Given the description of an element on the screen output the (x, y) to click on. 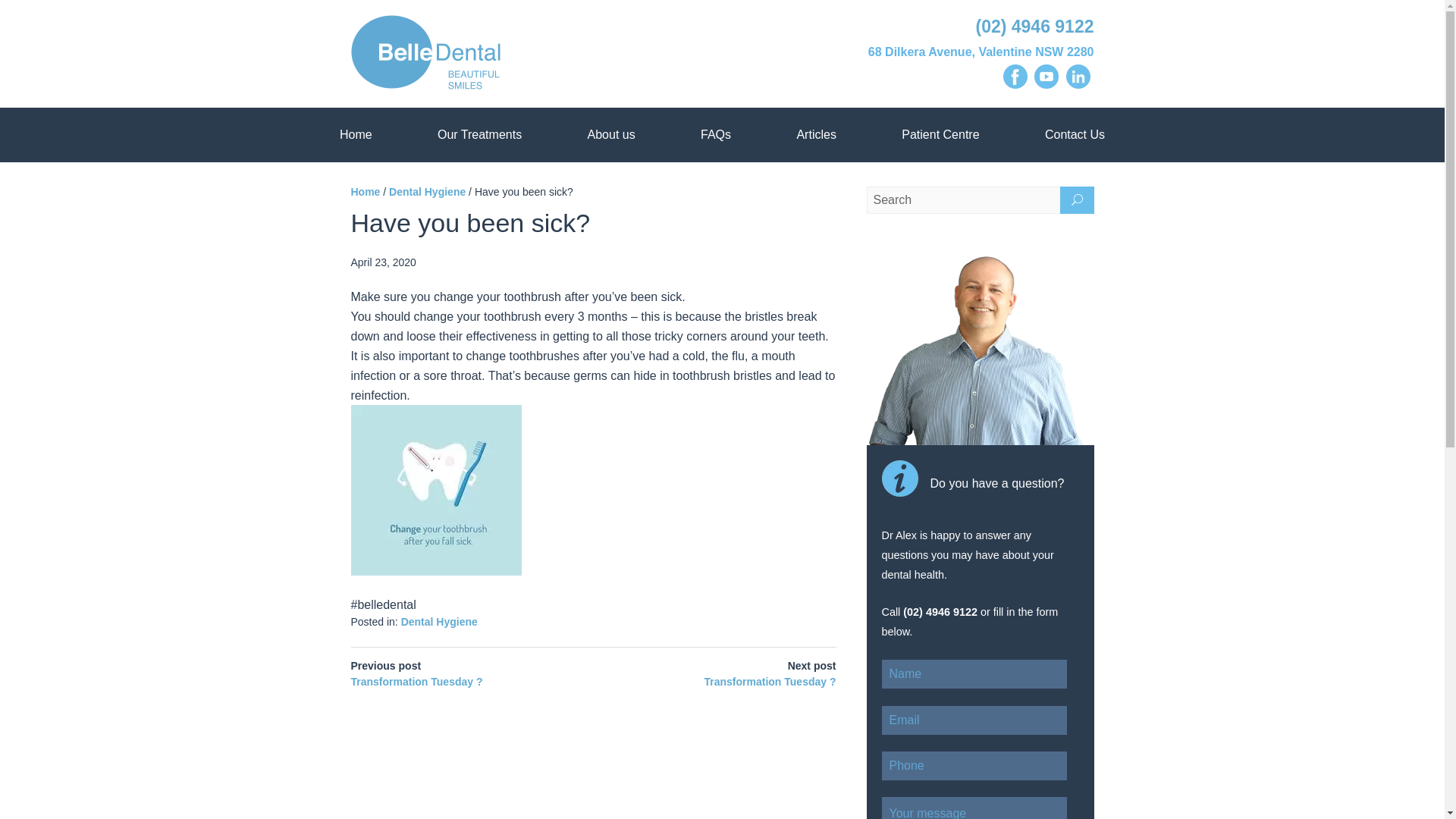
Search (979, 199)
Search (979, 199)
Home (355, 134)
FAQs (715, 134)
Our Treatments (479, 134)
Search (979, 199)
BelleDental (530, 55)
About us (611, 134)
Patient Centre (940, 134)
Articles (815, 134)
